Given the description of an element on the screen output the (x, y) to click on. 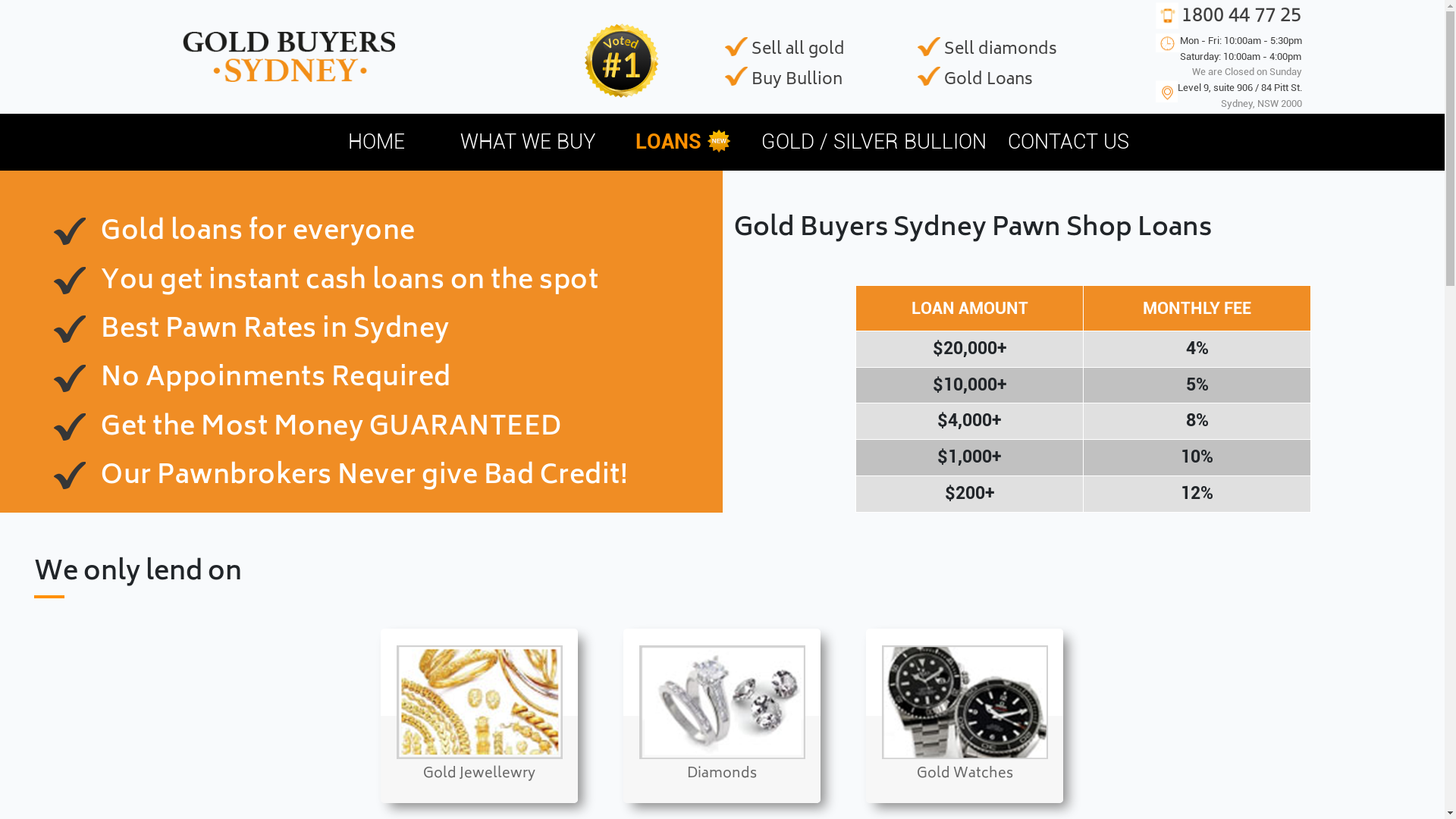
HOME Element type: text (375, 141)
CONTACT US Element type: text (1068, 141)
GOLD / SILVER BULLION Element type: text (873, 141)
WHAT WE BUY Element type: text (527, 141)
Gold Jewellewry Element type: text (478, 737)
LOANS Element type: text (668, 141)
Diamonds Element type: text (721, 737)
Gold Watches Element type: text (964, 737)
